Given the description of an element on the screen output the (x, y) to click on. 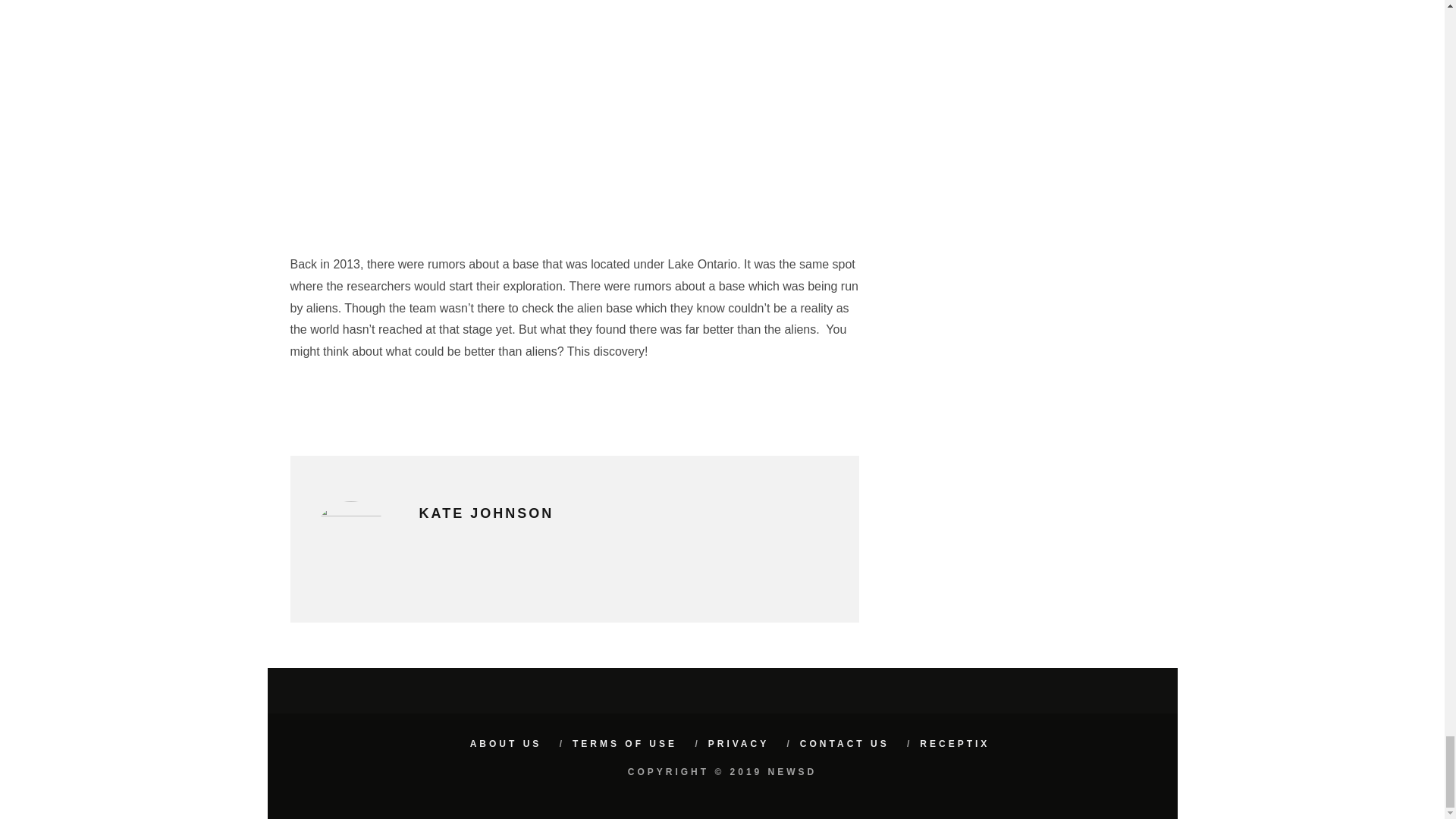
TERMS OF USE (624, 743)
KATE JOHNSON (486, 513)
ABOUT US (505, 743)
CONTACT US (844, 743)
RECEPTIX (955, 743)
PRIVACY (737, 743)
